Given the description of an element on the screen output the (x, y) to click on. 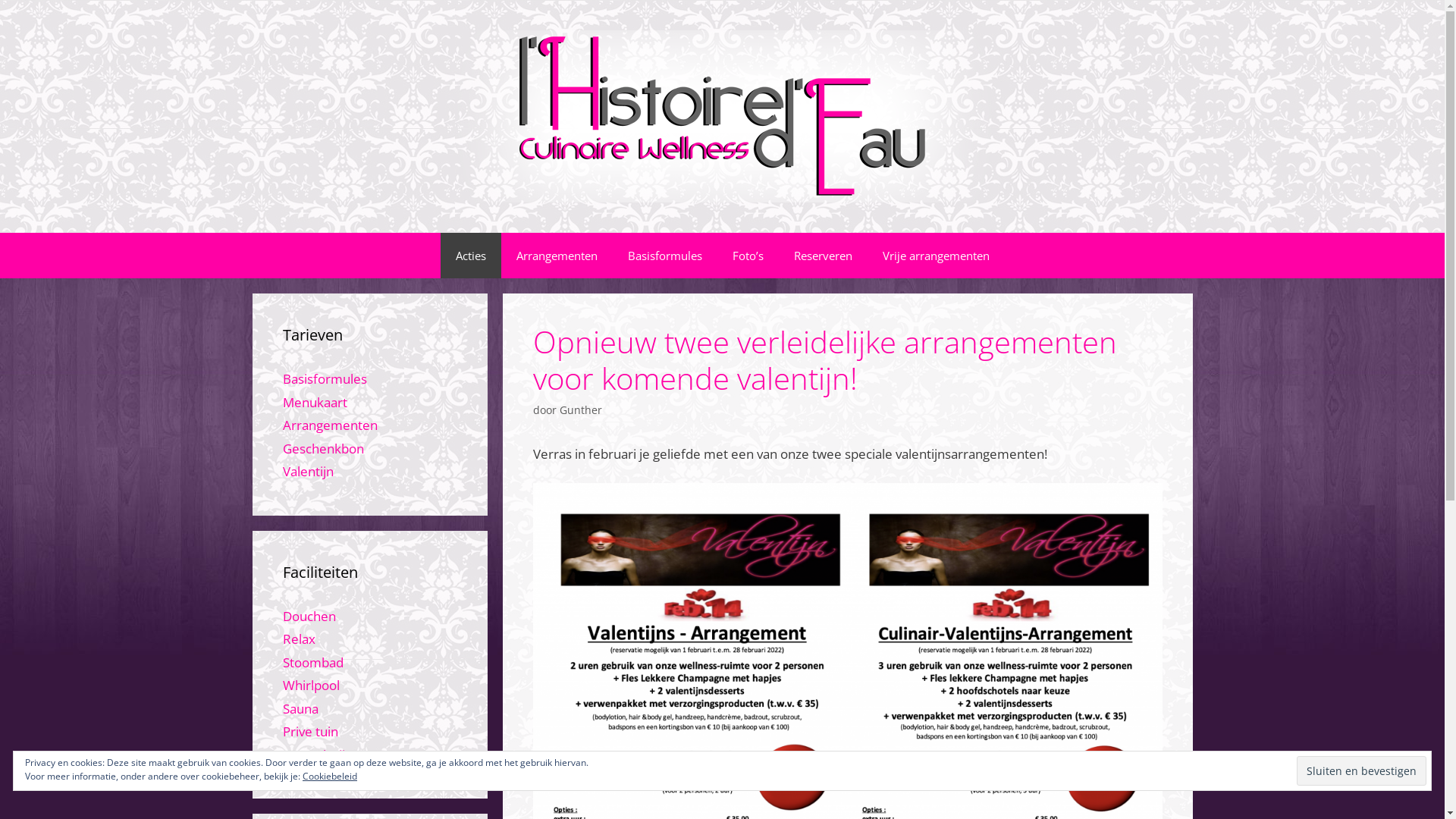
Menukaart Element type: text (314, 401)
Whirlpool Element type: text (310, 684)
Stoombad Element type: text (312, 662)
Basisformules Element type: text (324, 378)
Basisformules Element type: text (664, 255)
Geschenkbon Element type: text (322, 448)
Acties Element type: text (469, 255)
Valentijn Element type: text (307, 471)
Cookiebeleid Element type: text (329, 775)
Sauna Element type: text (299, 707)
Arrangementen Element type: text (329, 424)
Gunther Element type: text (580, 409)
Culinaire wellness Element type: hover (721, 116)
Fotogalerij Element type: text (313, 754)
Douchen Element type: text (308, 615)
Culinaire wellness Element type: hover (721, 114)
Prive tuin Element type: text (309, 731)
Relax Element type: text (298, 638)
Arrangementen Element type: text (555, 255)
Sluiten en bevestigen Element type: text (1361, 770)
Reserveren Element type: text (822, 255)
Vrije arrangementen Element type: text (935, 255)
